Given the description of an element on the screen output the (x, y) to click on. 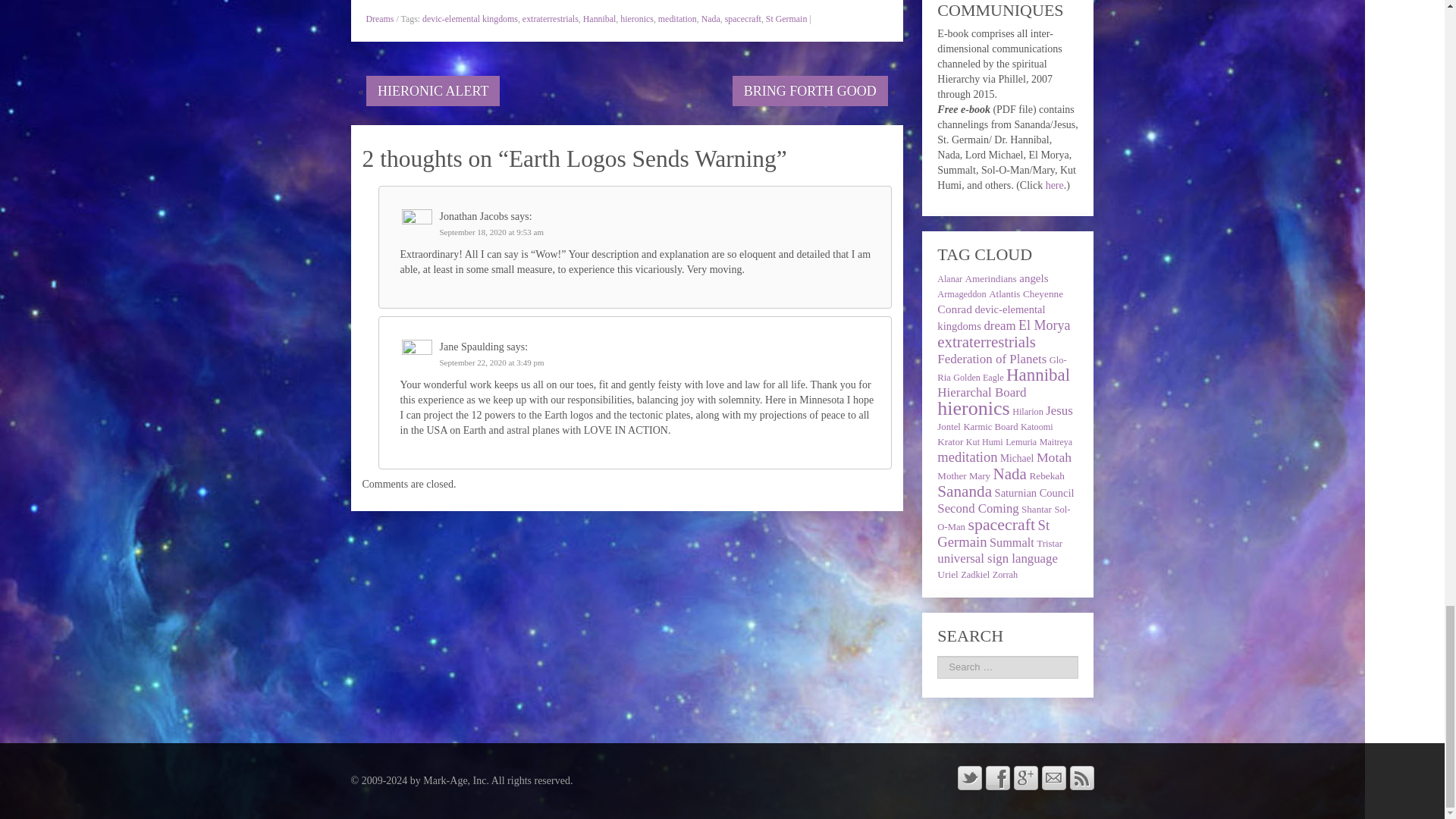
St Germain (786, 18)
spacecraft (743, 18)
hieronics (636, 18)
HIERONIC ALERT (432, 91)
devic-elemental kingdoms (470, 18)
Hannibal (599, 18)
extraterrestrials (550, 18)
Nada (710, 18)
meditation (677, 18)
Dreams (379, 18)
